Given the description of an element on the screen output the (x, y) to click on. 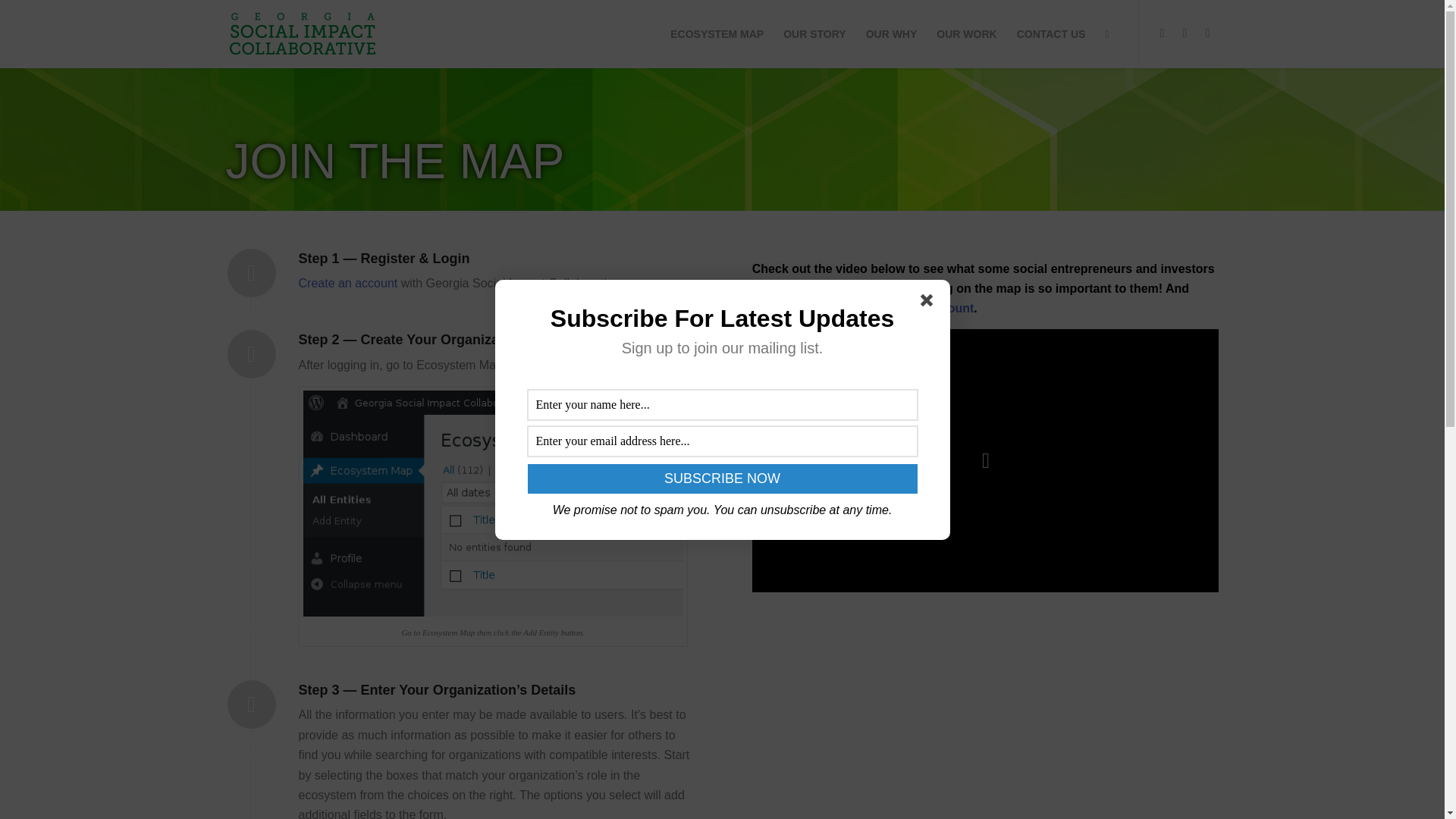
Subscribe Now (722, 478)
Close optin form (929, 303)
gsic (301, 33)
gsic (301, 33)
LinkedIn (1208, 33)
OUR STORY (814, 33)
OUR WHY (891, 33)
CONTACT US (1051, 33)
OUR WORK (966, 33)
Facebook (1162, 33)
Subscribe Now (722, 478)
Instagram (1184, 33)
Take Action Now! (224, 14)
ECOSYSTEM MAP (717, 33)
Create an account (347, 282)
